Given the description of an element on the screen output the (x, y) to click on. 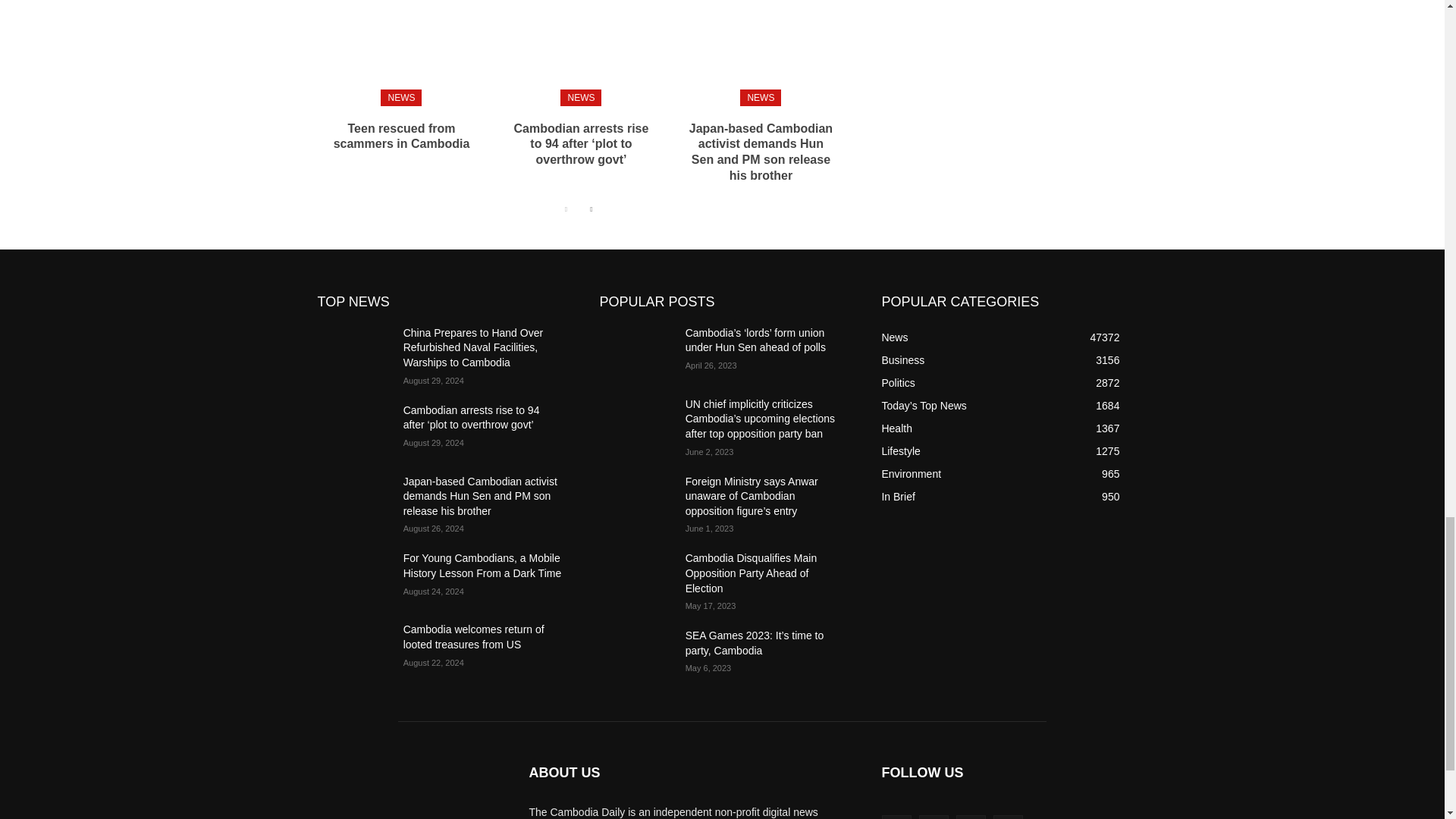
NEWS (580, 97)
Teen rescued from scammers in Cambodia (400, 49)
Teen rescued from scammers in Cambodia (401, 136)
Teen rescued from scammers in Cambodia (401, 136)
NEWS (759, 97)
NEWS (401, 97)
